Given the description of an element on the screen output the (x, y) to click on. 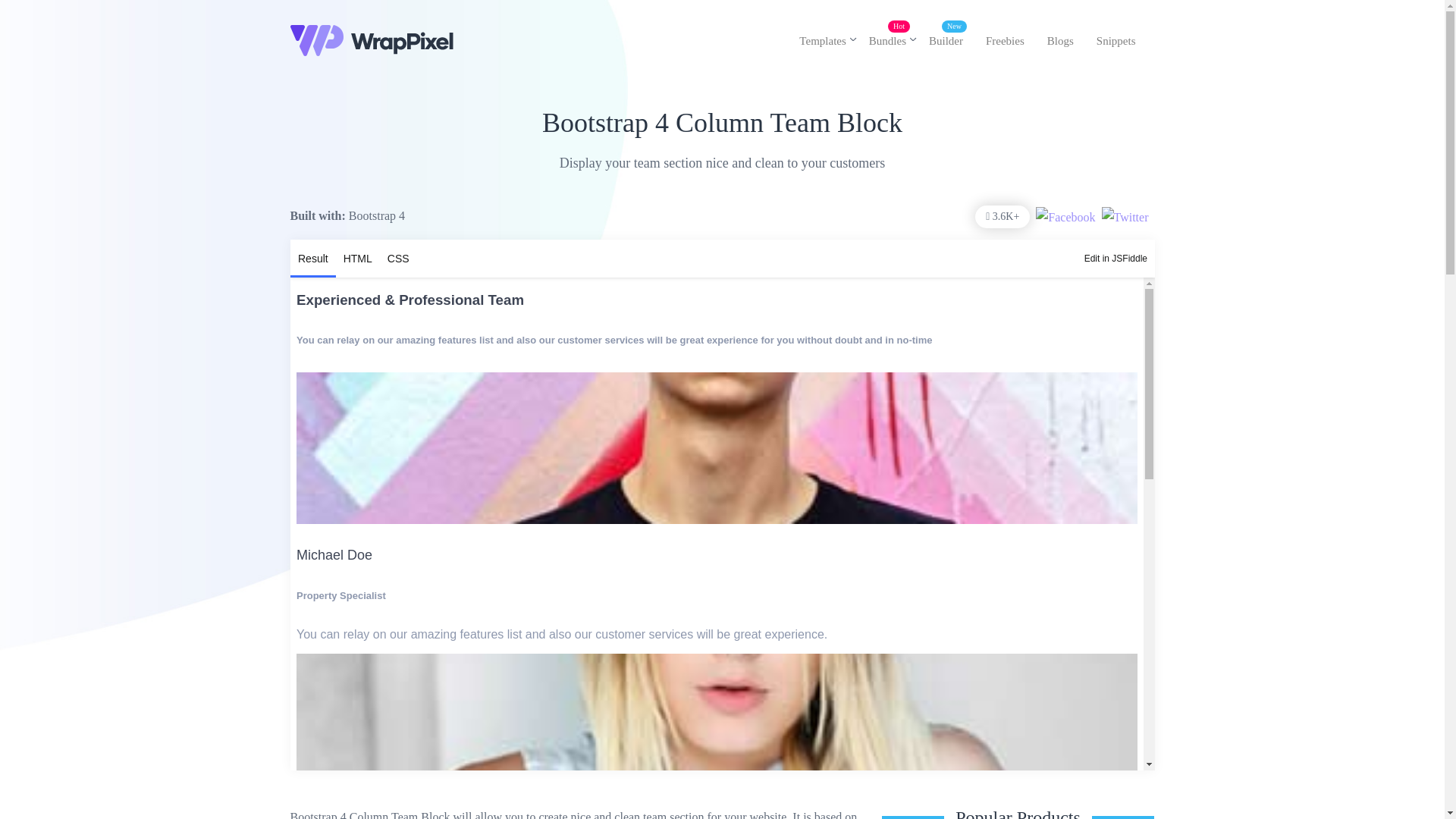
Blogs (1059, 40)
Bundles (887, 40)
Snippets (1115, 40)
Builder (945, 40)
Freebies (1004, 40)
Templates (822, 40)
